Given the description of an element on the screen output the (x, y) to click on. 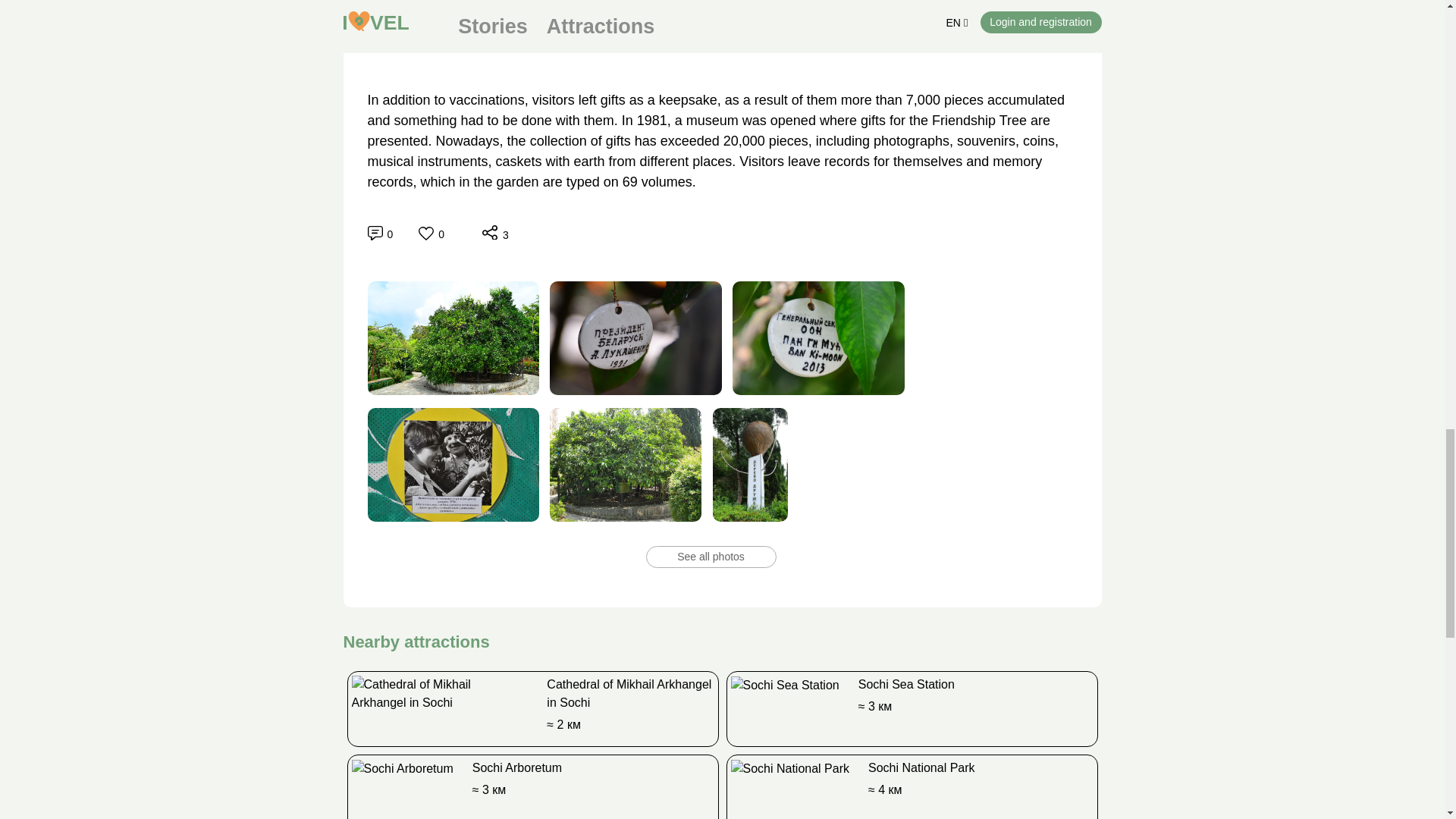
Friendship tree (635, 337)
Friendship tree (721, 24)
Friendship tree (818, 337)
Friendship tree (625, 464)
Friendship tree (452, 464)
Friendship tree (452, 337)
See all photos (711, 557)
See all photos (711, 551)
